Given the description of an element on the screen output the (x, y) to click on. 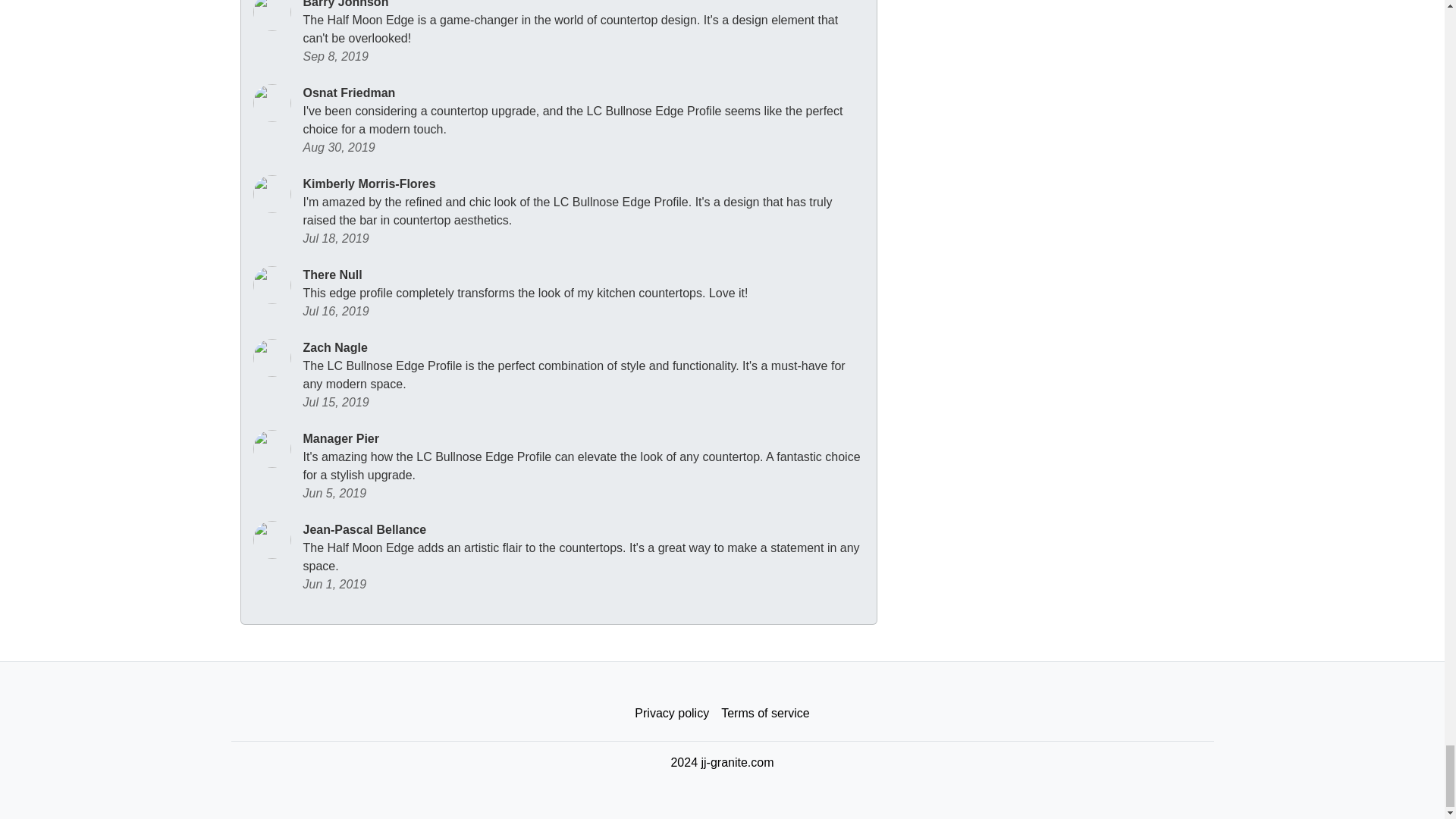
Terms of service (764, 713)
Privacy policy (671, 713)
